Given the description of an element on the screen output the (x, y) to click on. 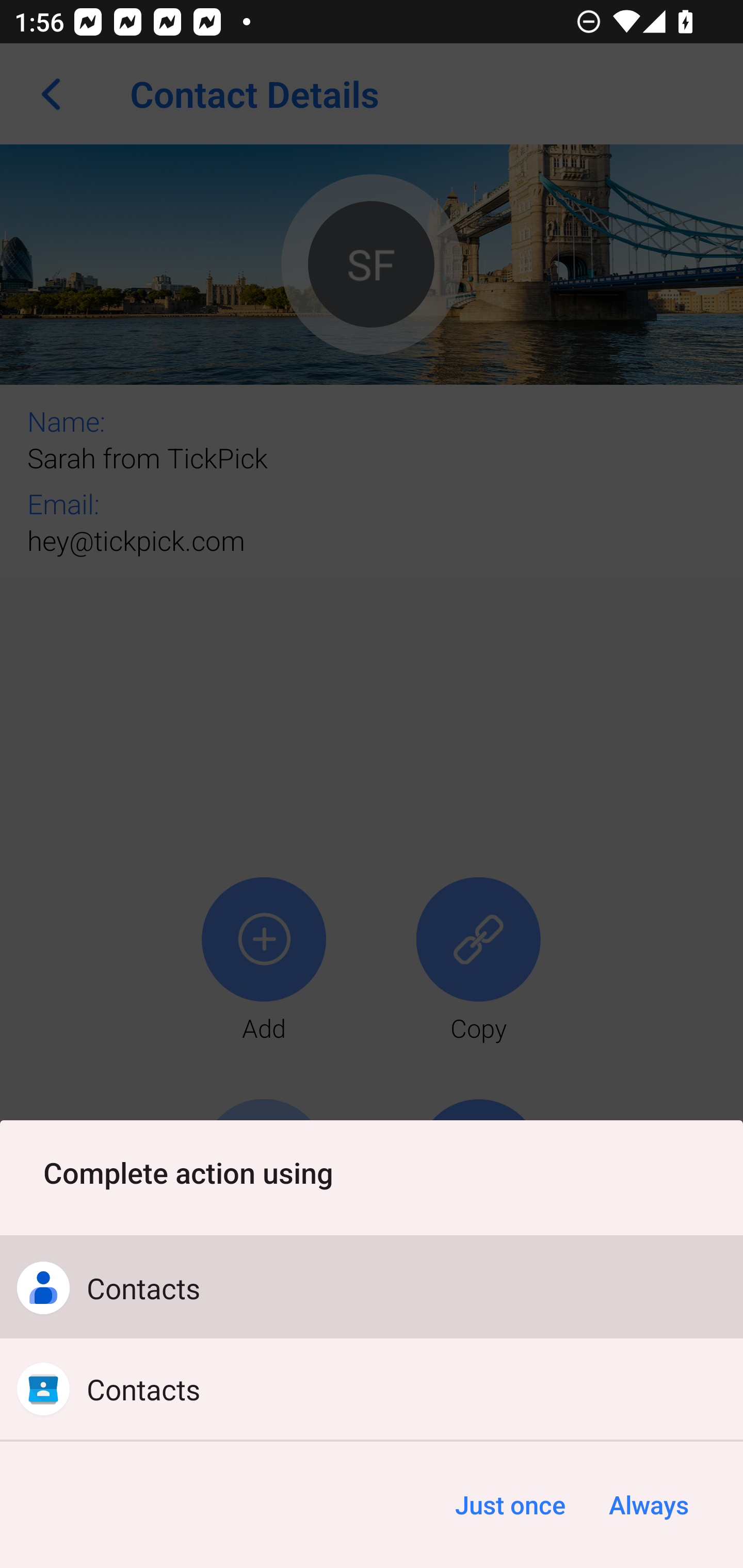
Contacts (371, 1288)
Contacts (371, 1389)
Just once (509, 1504)
Always (648, 1504)
